Given the description of an element on the screen output the (x, y) to click on. 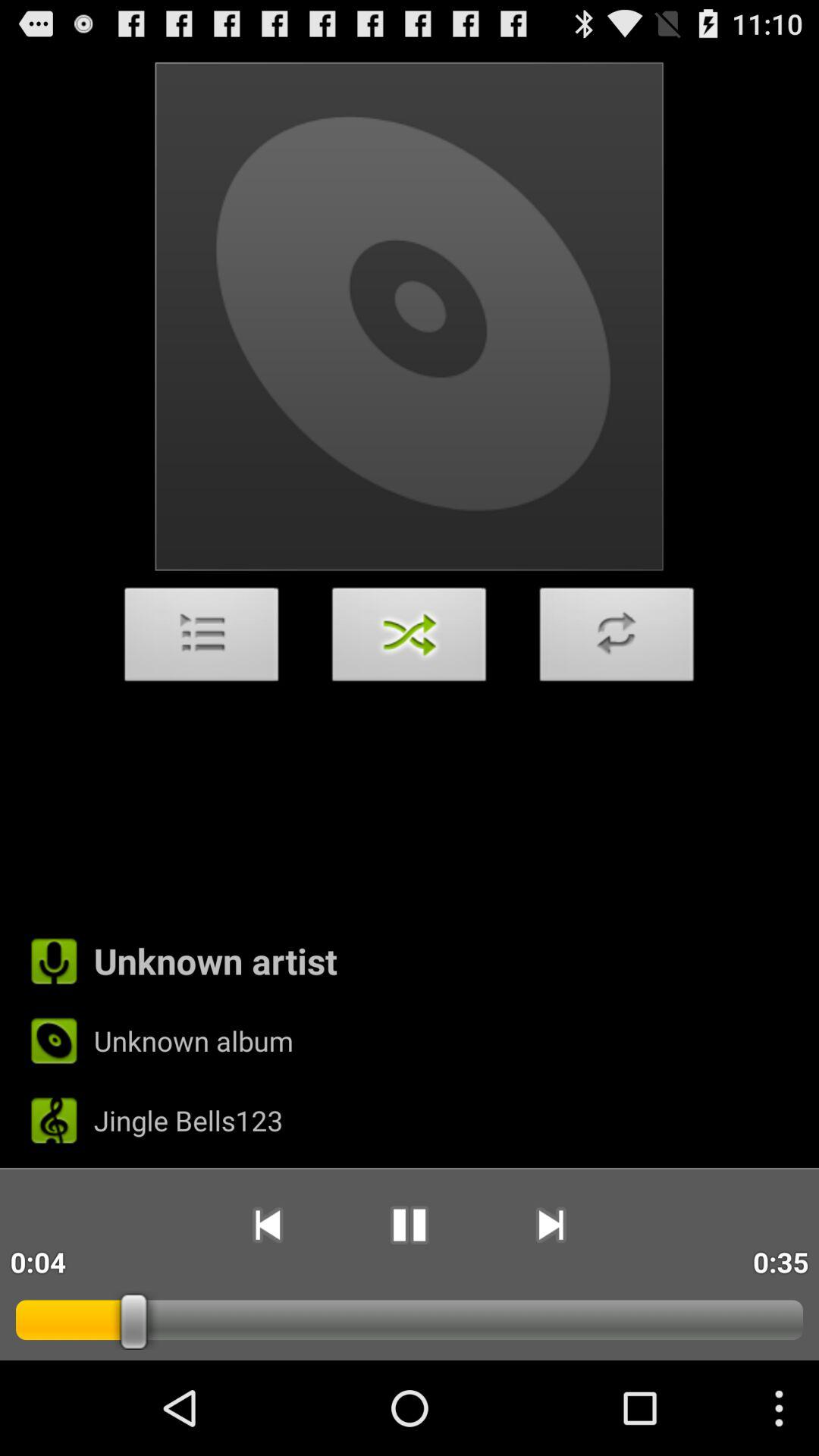
select app above the unknown artist item (409, 638)
